Given the description of an element on the screen output the (x, y) to click on. 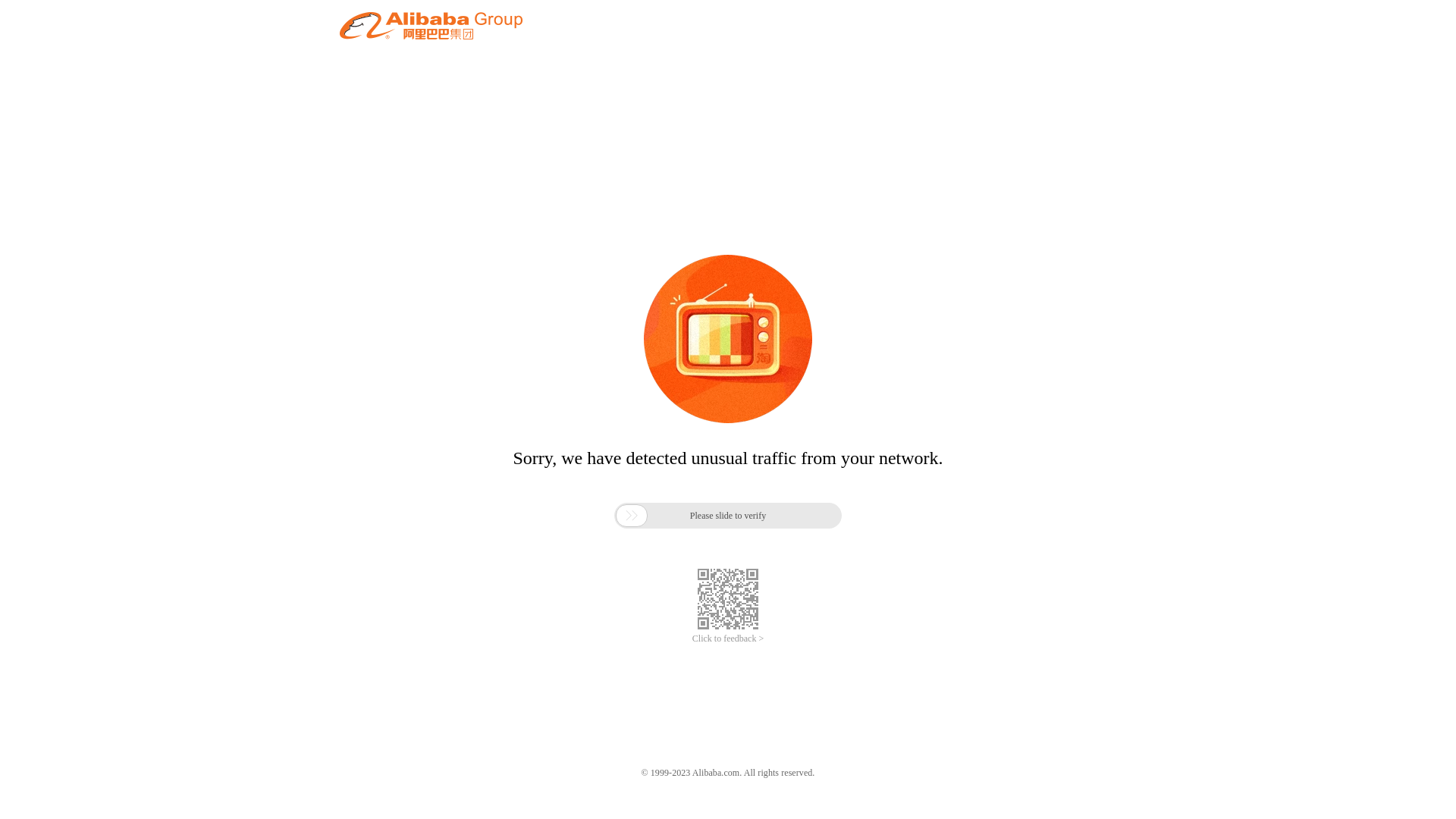
Click to feedback > Element type: text (727, 638)
